Given the description of an element on the screen output the (x, y) to click on. 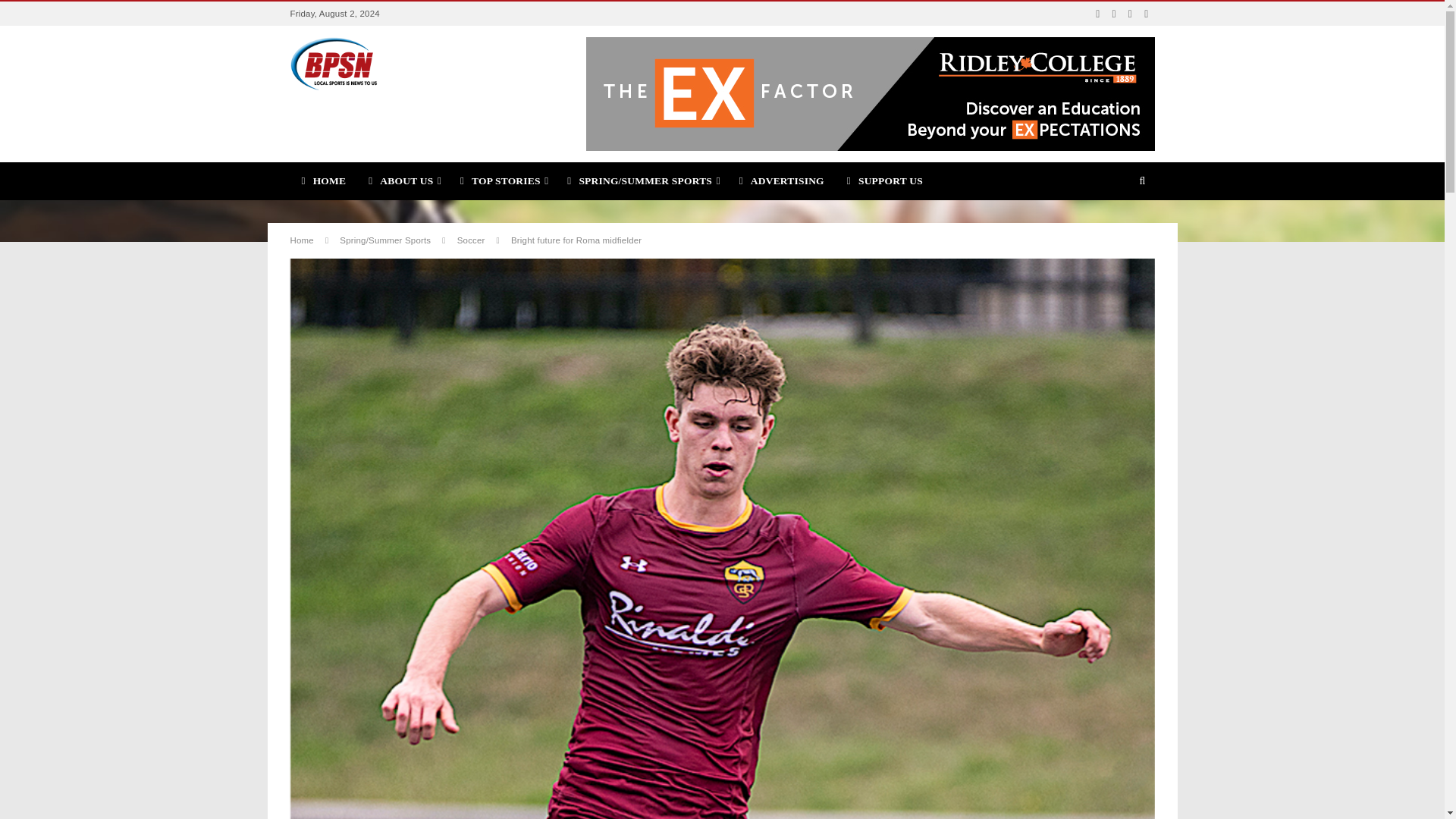
BP Sports Niagara (333, 63)
TOP STORIES (502, 180)
ABOUT US (402, 180)
HOME (322, 180)
